Given the description of an element on the screen output the (x, y) to click on. 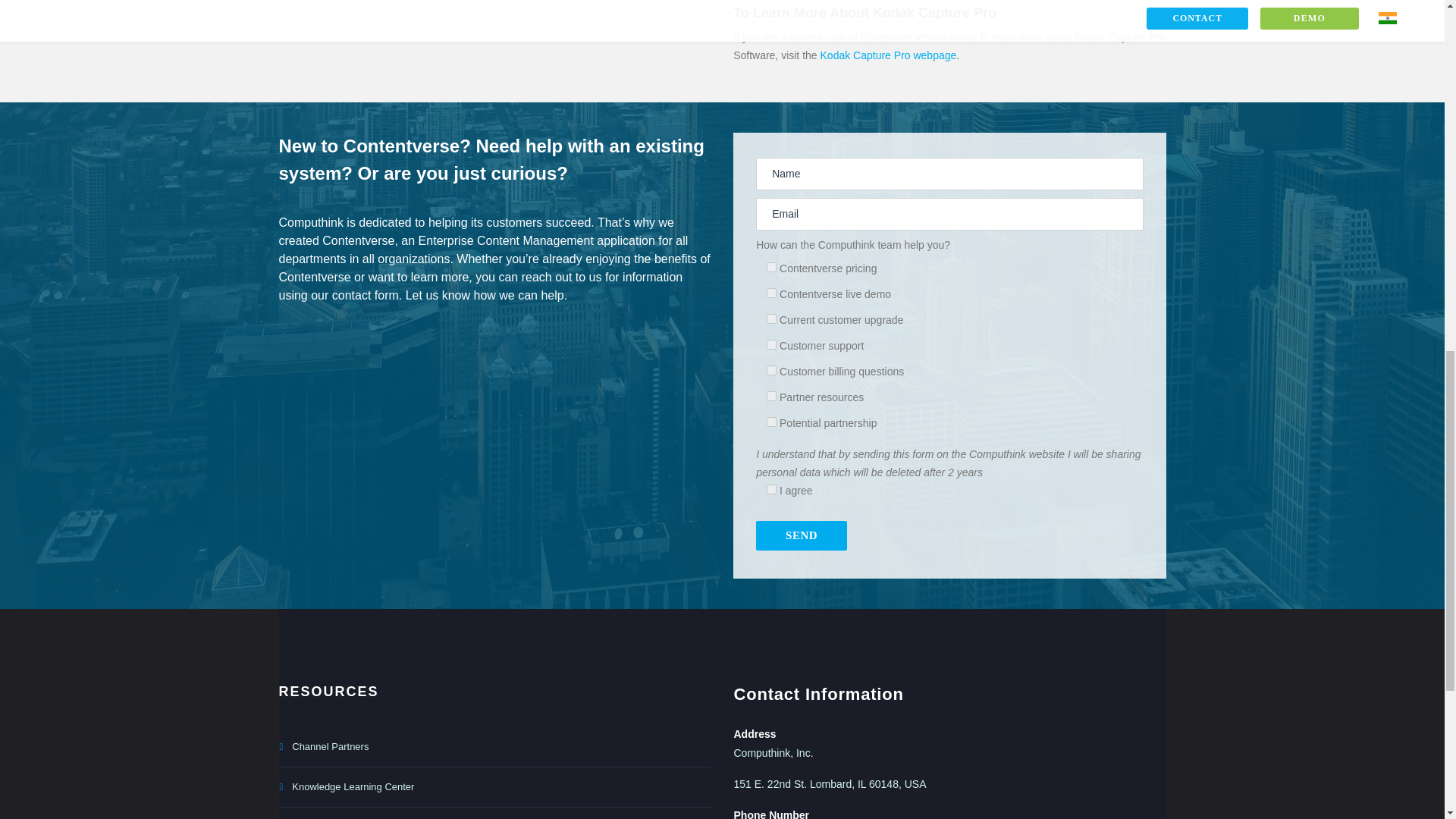
Contentverse pricing (771, 266)
Contentverse live demo (771, 293)
I agree (771, 489)
Kodak Capture Pro webpage (888, 55)
Current customer upgrade (771, 318)
Customer billing questions (771, 370)
Knowledge Learning Center (494, 787)
Channel Partners (494, 747)
SEND (801, 535)
Customer support (771, 344)
